Given the description of an element on the screen output the (x, y) to click on. 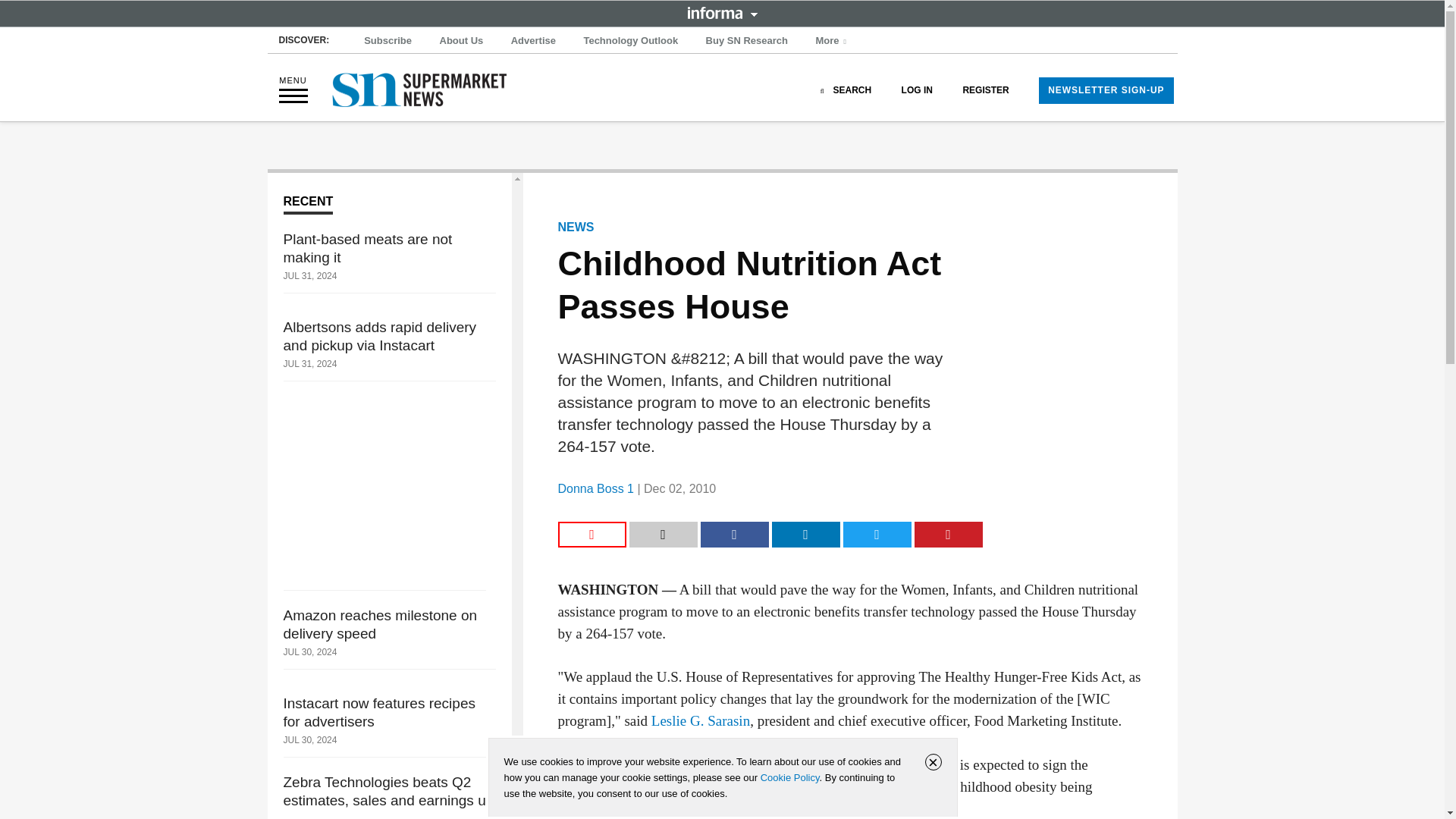
Technology Outlook (630, 41)
About Us (461, 41)
INFORMA (722, 12)
More (832, 41)
Cookie Policy (789, 777)
Subscribe (387, 41)
Advertise (533, 41)
Buy SN Research (746, 41)
